Given the description of an element on the screen output the (x, y) to click on. 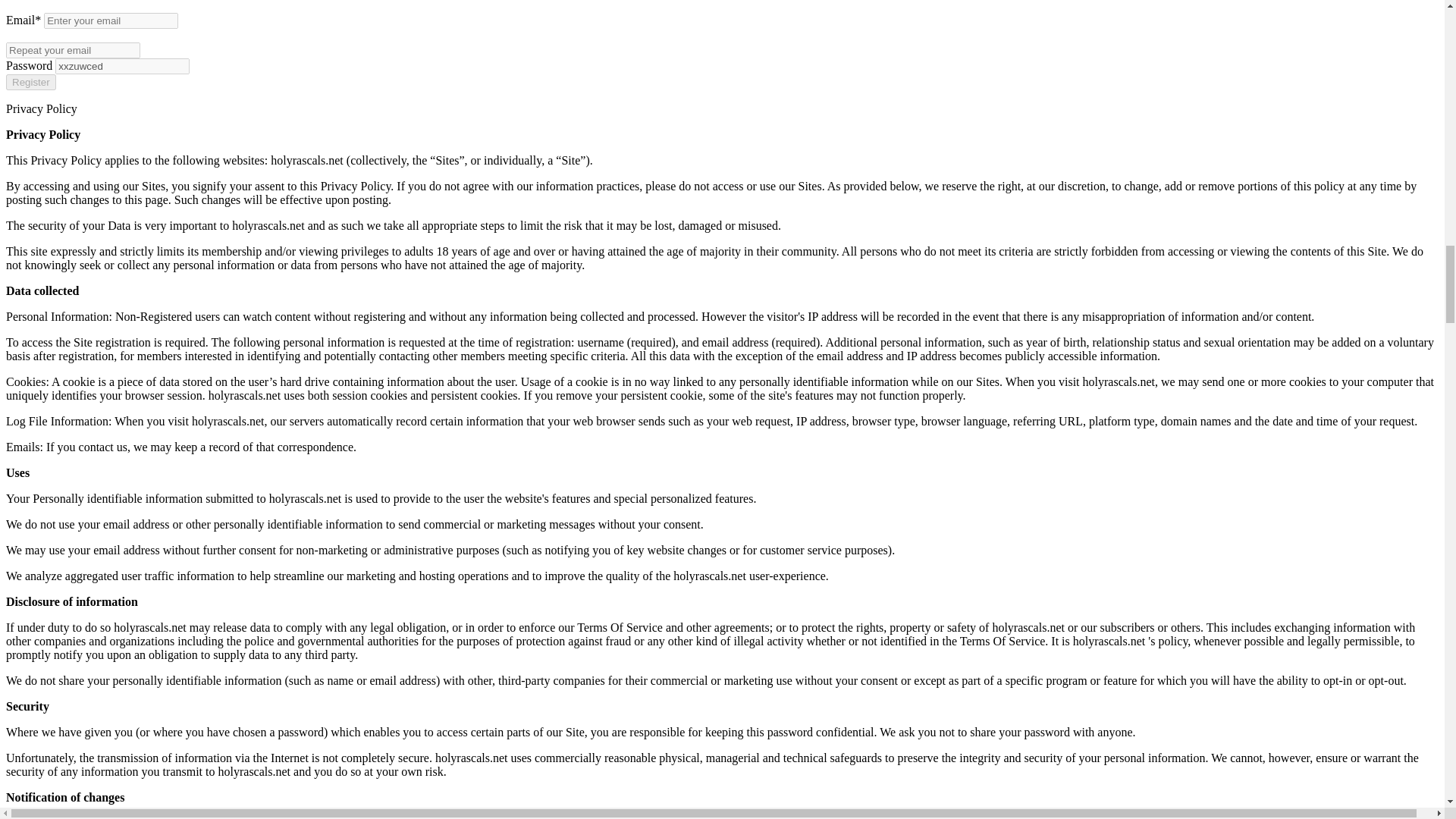
xxzuwced (122, 66)
Register (30, 82)
